Given the description of an element on the screen output the (x, y) to click on. 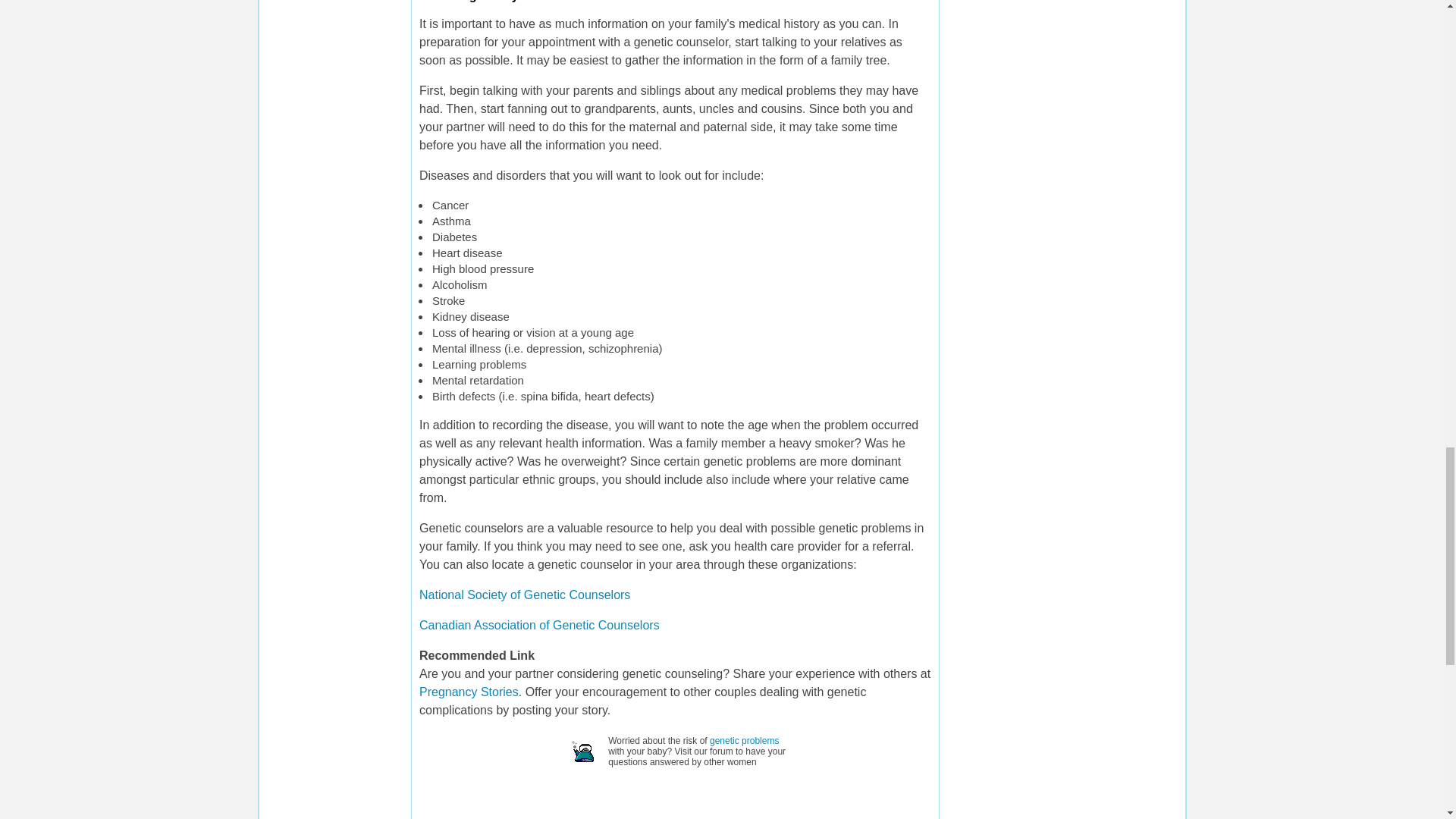
Pregnancy Stories (468, 691)
National Society of Genetic Counselors (524, 594)
genetic problems (744, 740)
Canadian Association of Genetic Counselors (539, 625)
